Given the description of an element on the screen output the (x, y) to click on. 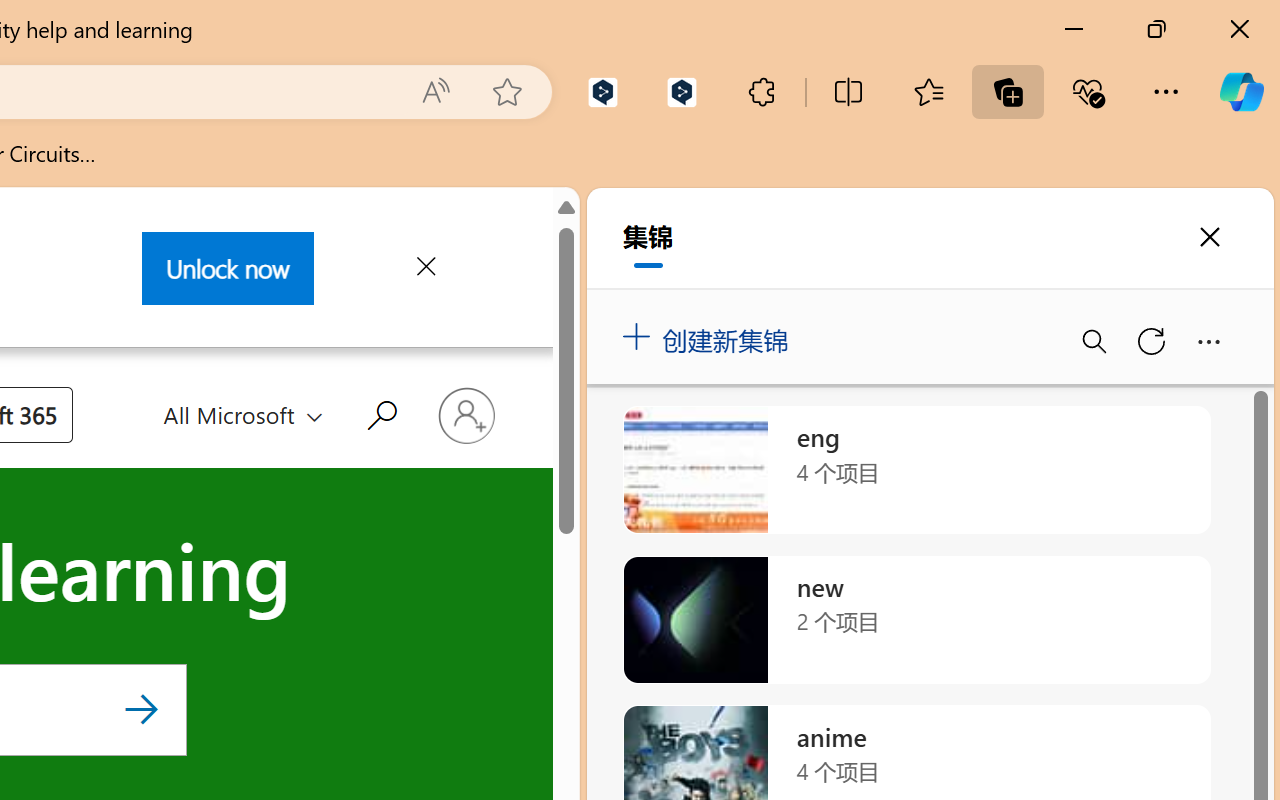
Sign in to your account (465, 415)
Search for help (378, 413)
Search (139, 709)
